Given the description of an element on the screen output the (x, y) to click on. 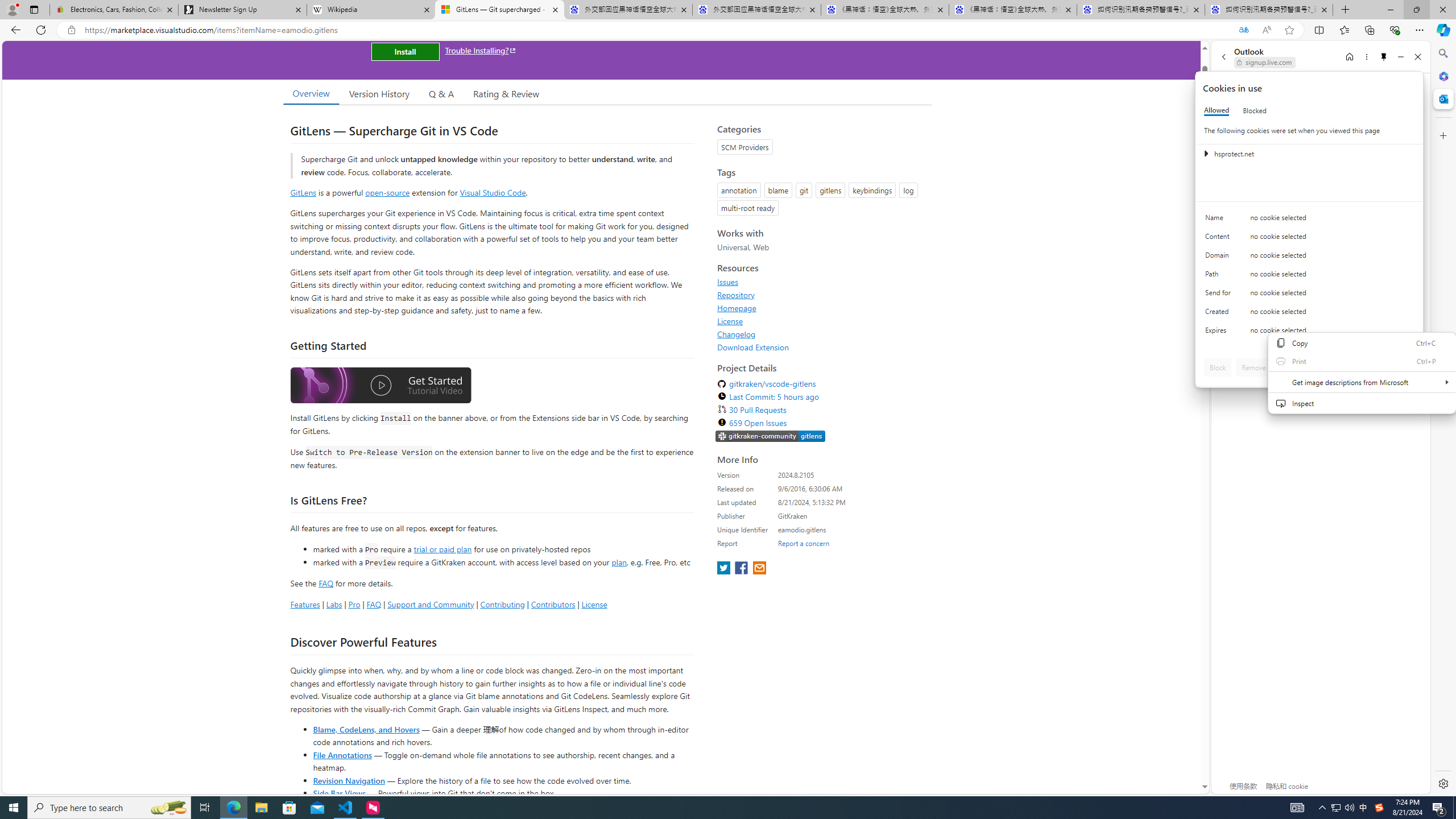
Print (1362, 361)
Name (1219, 220)
Allowed (1216, 110)
Path (1219, 276)
Done (1399, 367)
Inspect (1362, 402)
